Given the description of an element on the screen output the (x, y) to click on. 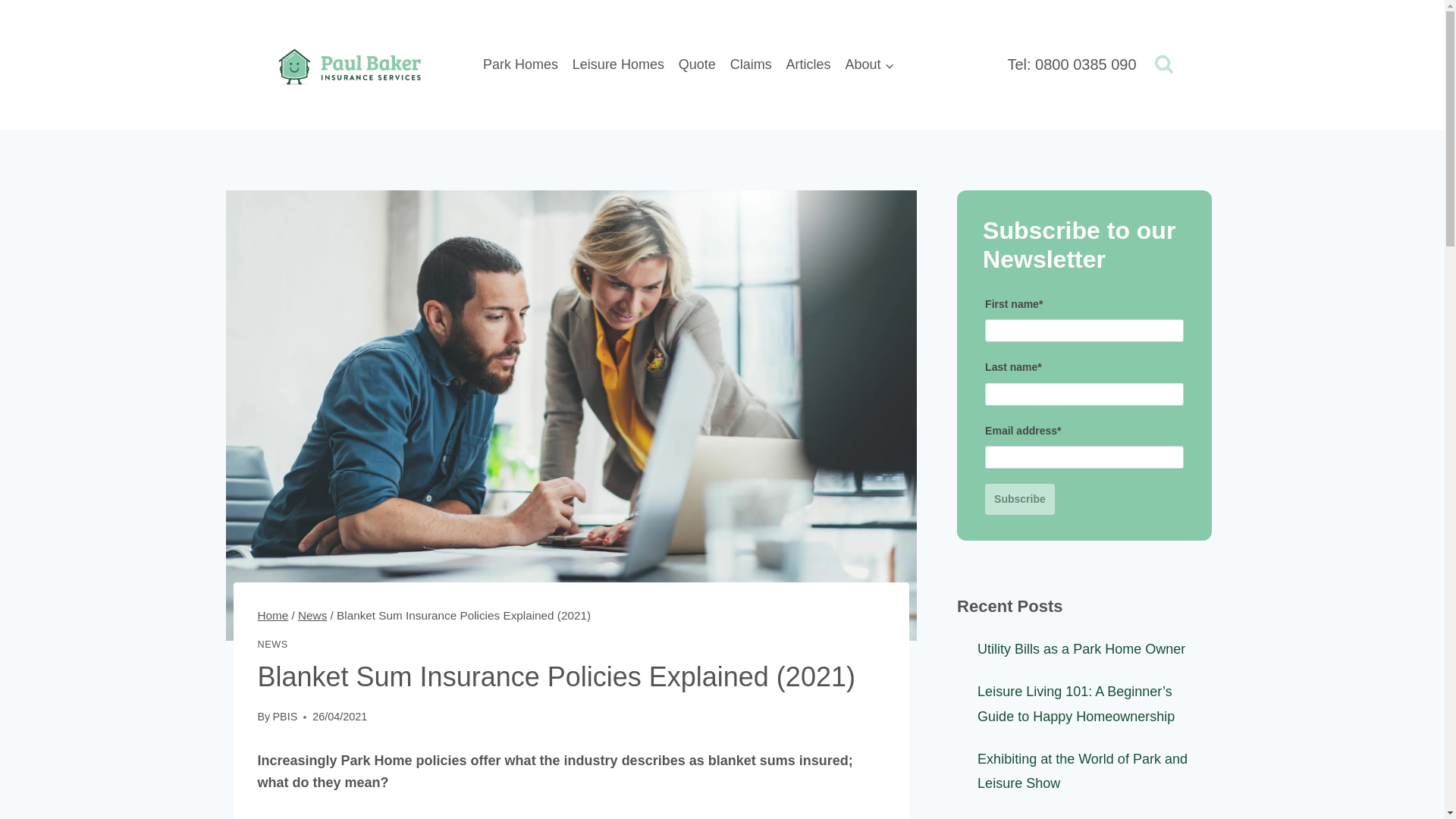
PBIS (284, 716)
News (312, 615)
Tel: 0800 0385 090 (1071, 64)
Home (272, 615)
NEWS (272, 644)
